Given the description of an element on the screen output the (x, y) to click on. 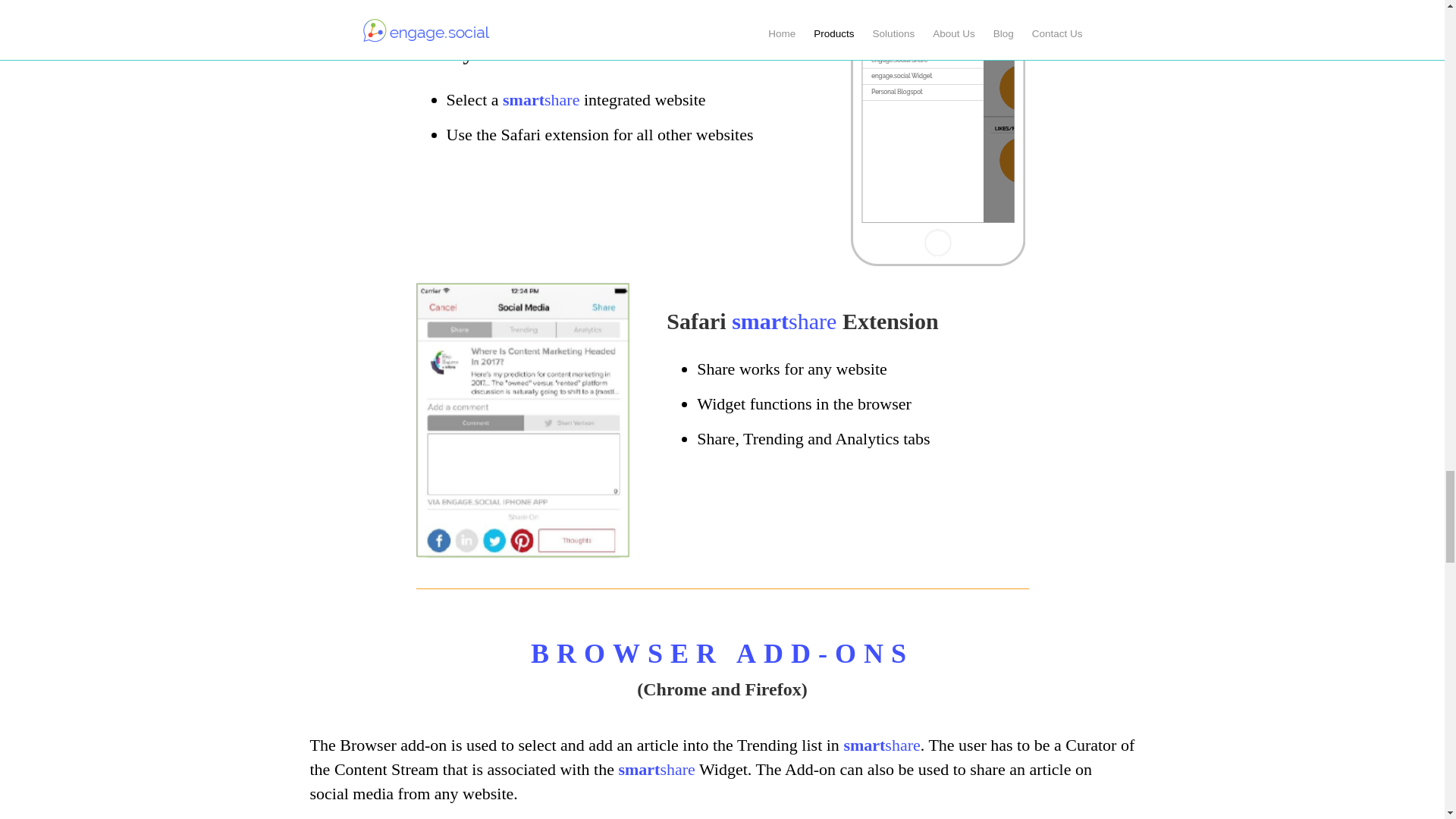
smartshare (655, 769)
smartshare (783, 320)
smartshare (540, 99)
smartshare (881, 744)
